Given the description of an element on the screen output the (x, y) to click on. 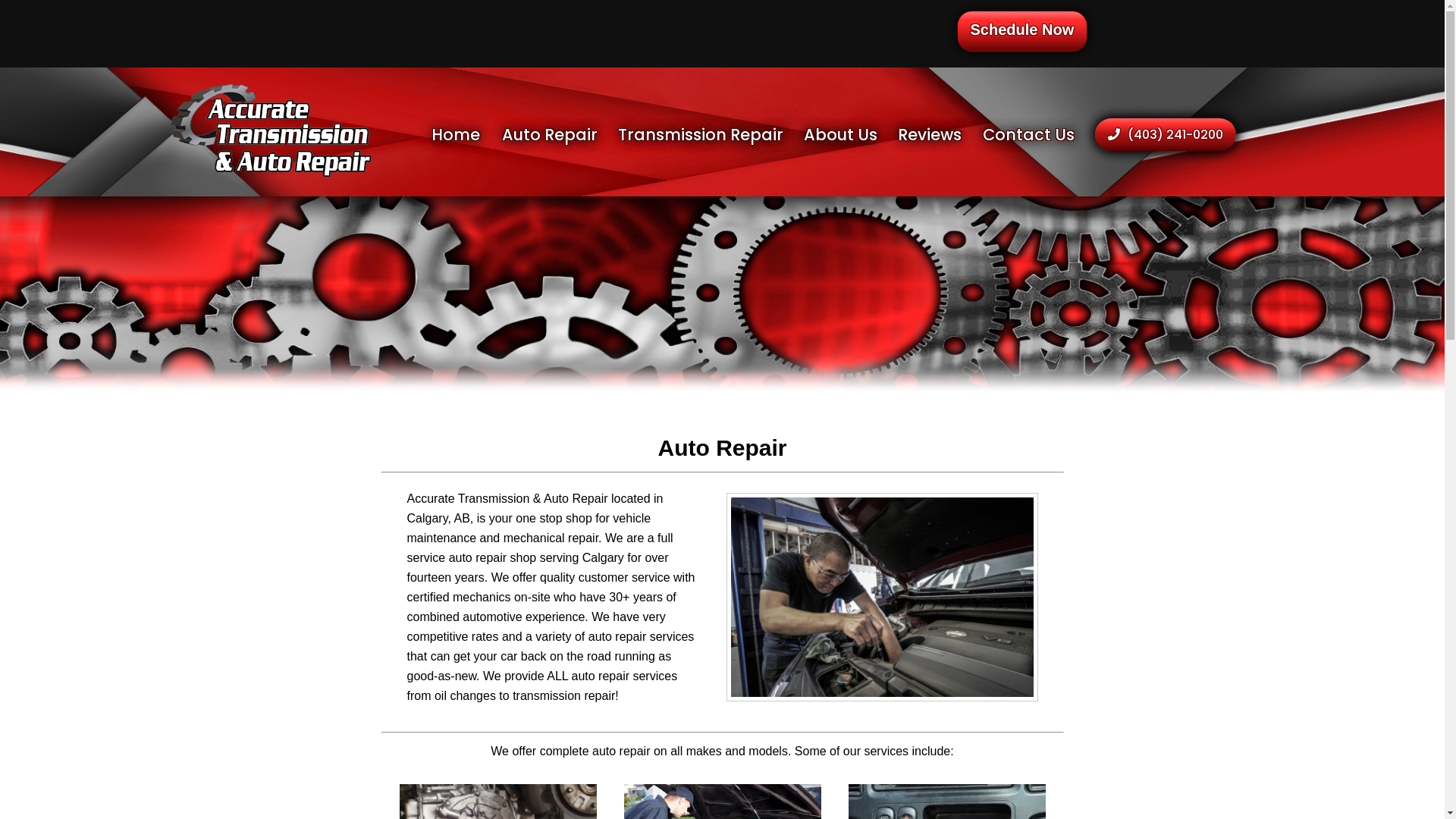
About Us Element type: text (850, 136)
(403) 241-0200 Element type: text (1165, 134)
Contact Us Element type: text (1038, 136)
Home Element type: text (465, 136)
Reviews Element type: text (939, 136)
Schedule Now Element type: text (1022, 31)
Transmission Repair Element type: text (710, 136)
Auto Repair Element type: text (559, 134)
